Given the description of an element on the screen output the (x, y) to click on. 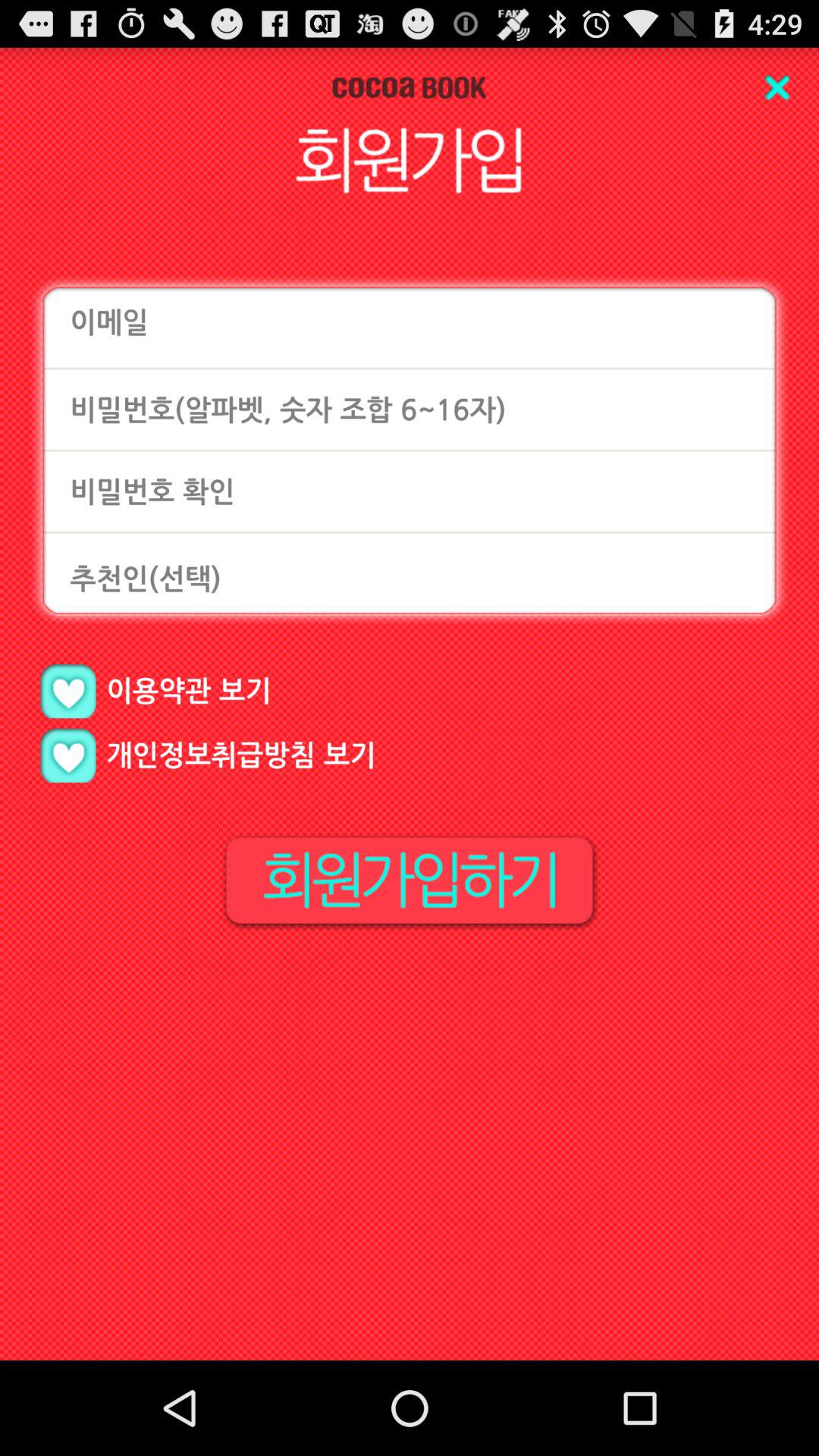
close tab (777, 87)
